Given the description of an element on the screen output the (x, y) to click on. 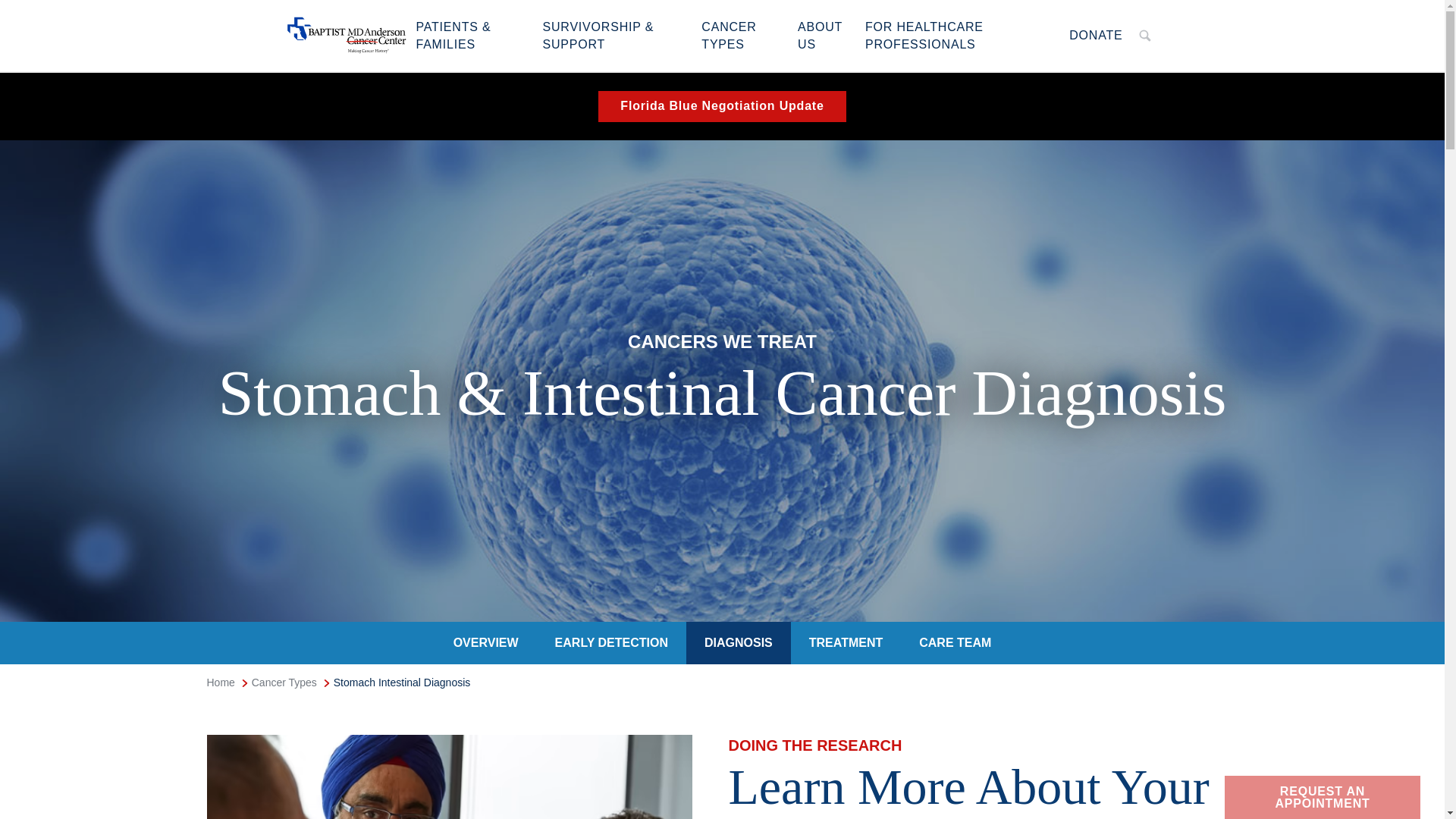
Florida Blue Negotiation Update (722, 106)
OVERVIEW (486, 642)
EARLY DETECTION (1095, 35)
REQUEST AN APPOINTMENT (611, 642)
SKIP TO MAIN CONTENT (1322, 797)
Return to home (959, 35)
Home (346, 35)
